Given the description of an element on the screen output the (x, y) to click on. 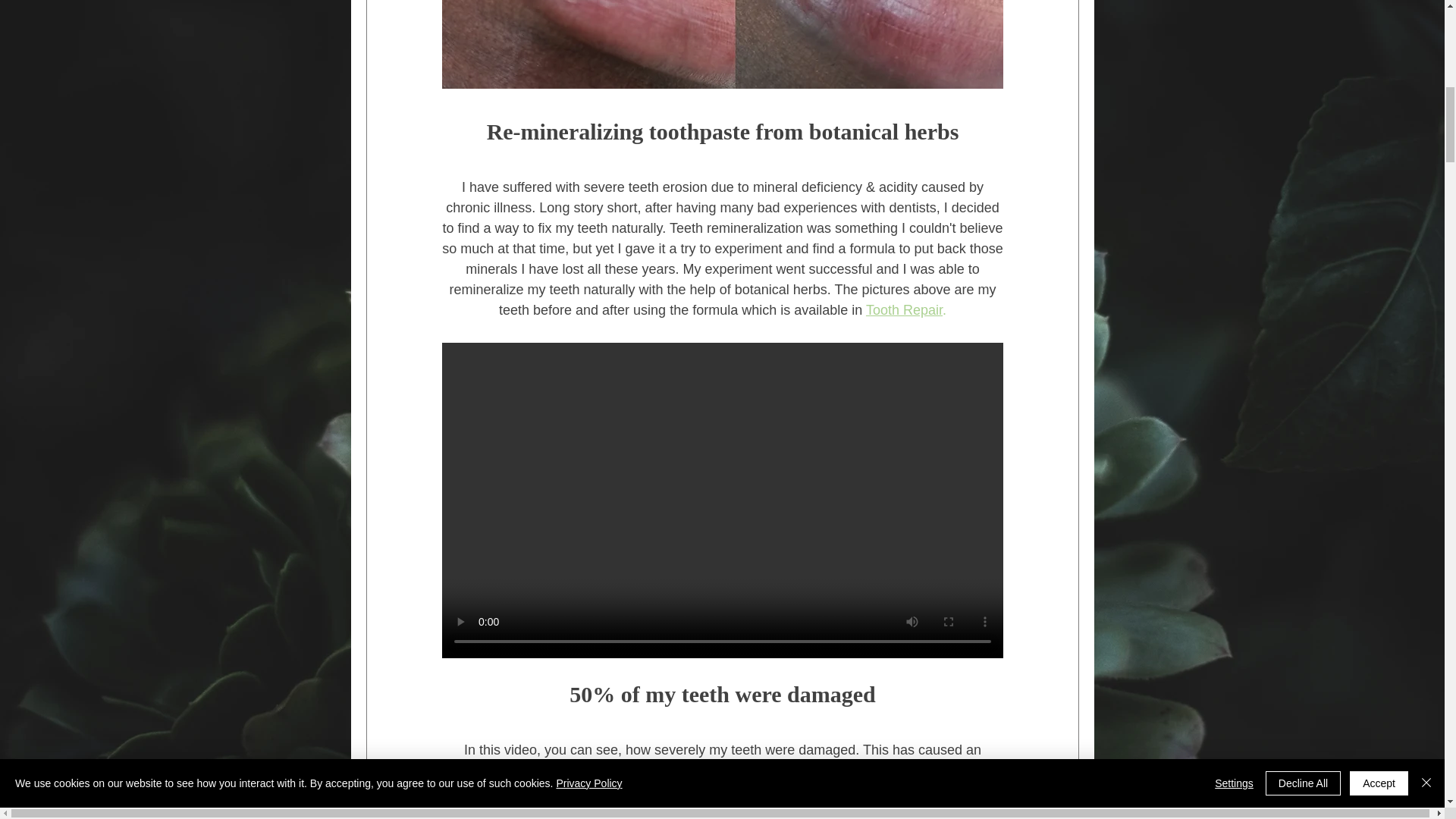
Tooth Repair (903, 310)
